Given the description of an element on the screen output the (x, y) to click on. 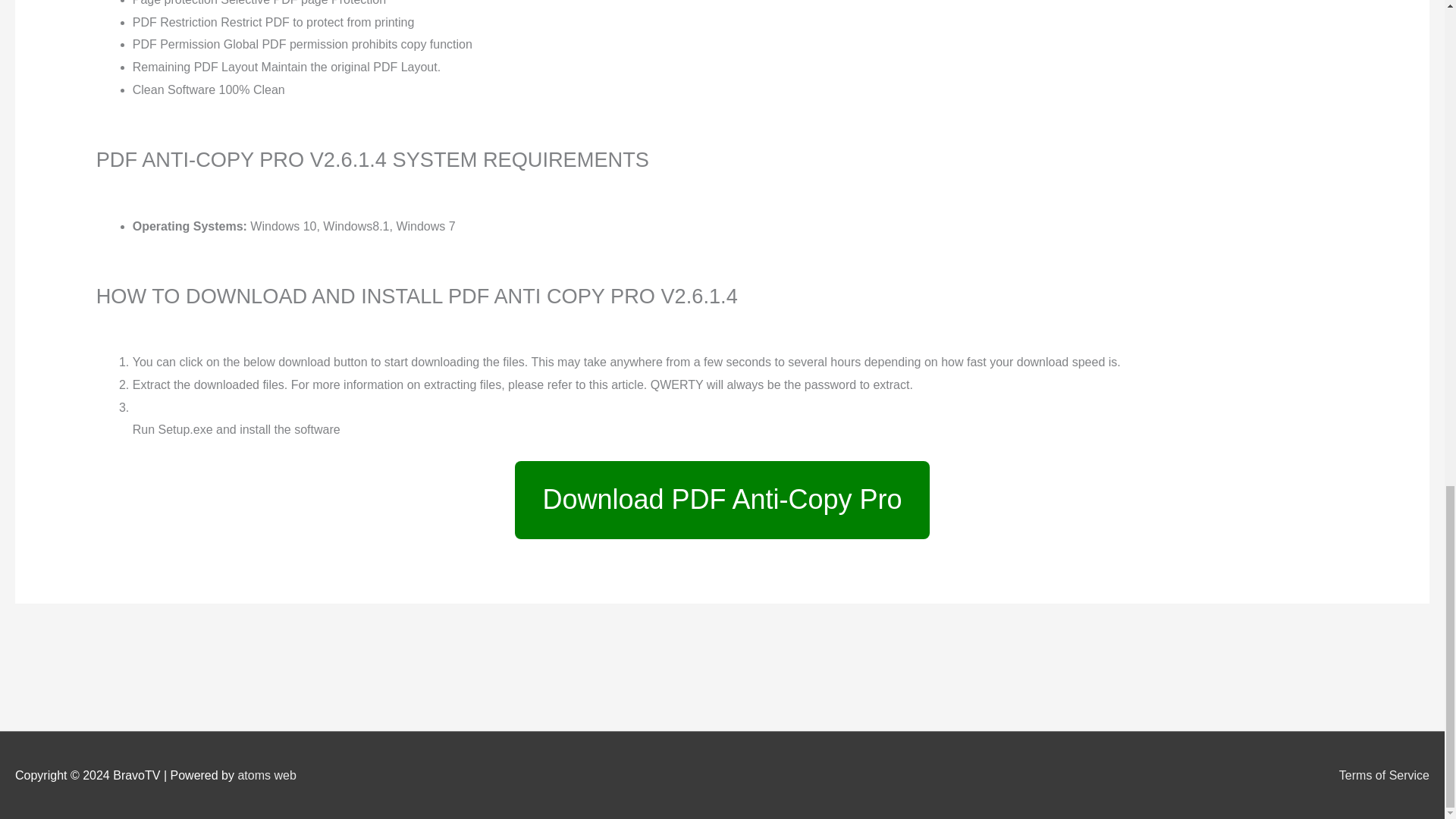
atoms web (266, 775)
Download PDF Anti-Copy Pro (721, 504)
Terms of Service (1377, 775)
Download PDF Anti-Copy Pro (721, 499)
